Given the description of an element on the screen output the (x, y) to click on. 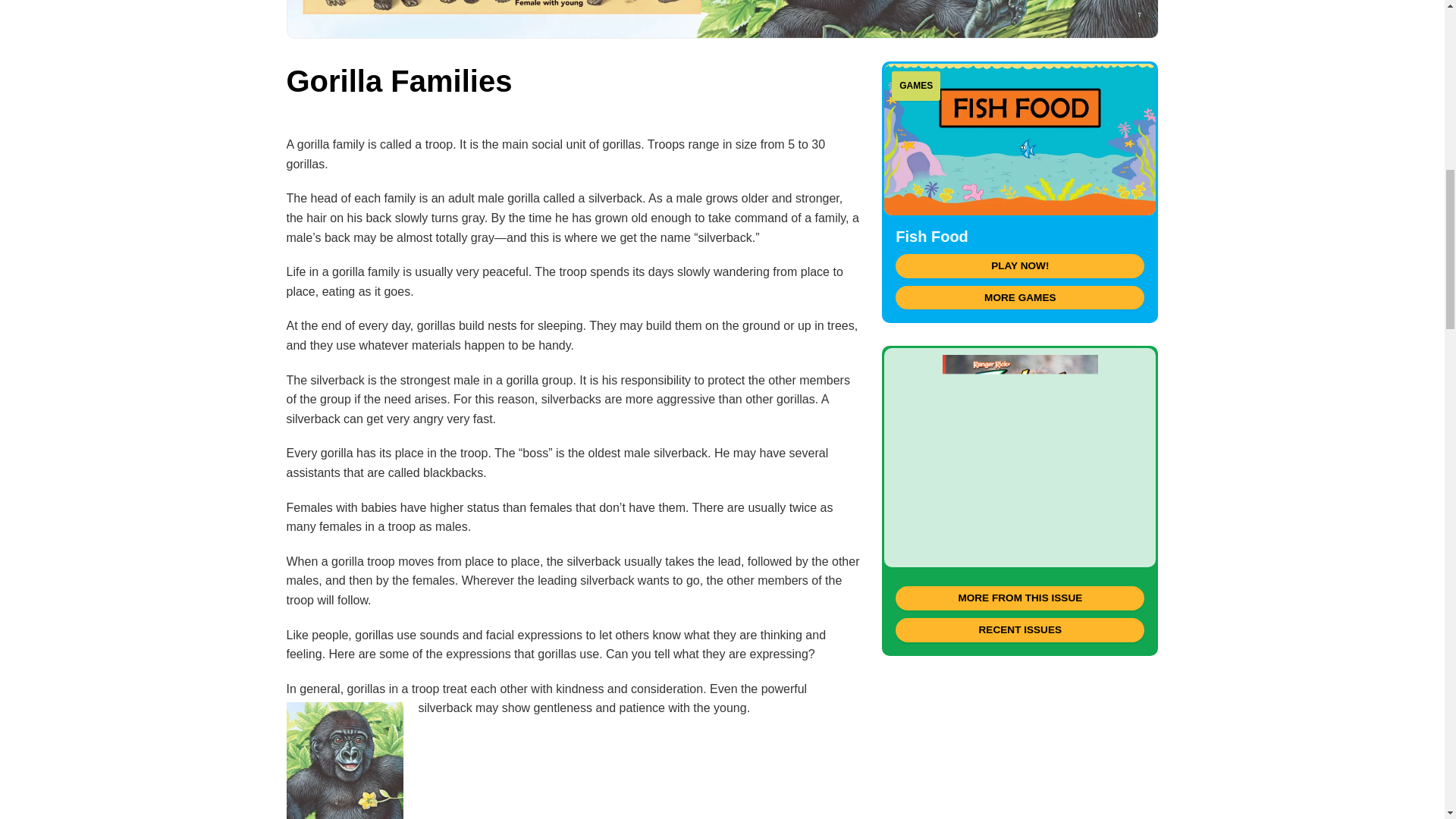
RECENT ISSUES (1019, 629)
Fish Food (1019, 139)
PLAY NOW! (1019, 265)
Gorilla Families (1019, 457)
Fish Food (931, 236)
MORE FROM THIS ISSUE (1019, 597)
MORE GAMES (1019, 297)
